Given the description of an element on the screen output the (x, y) to click on. 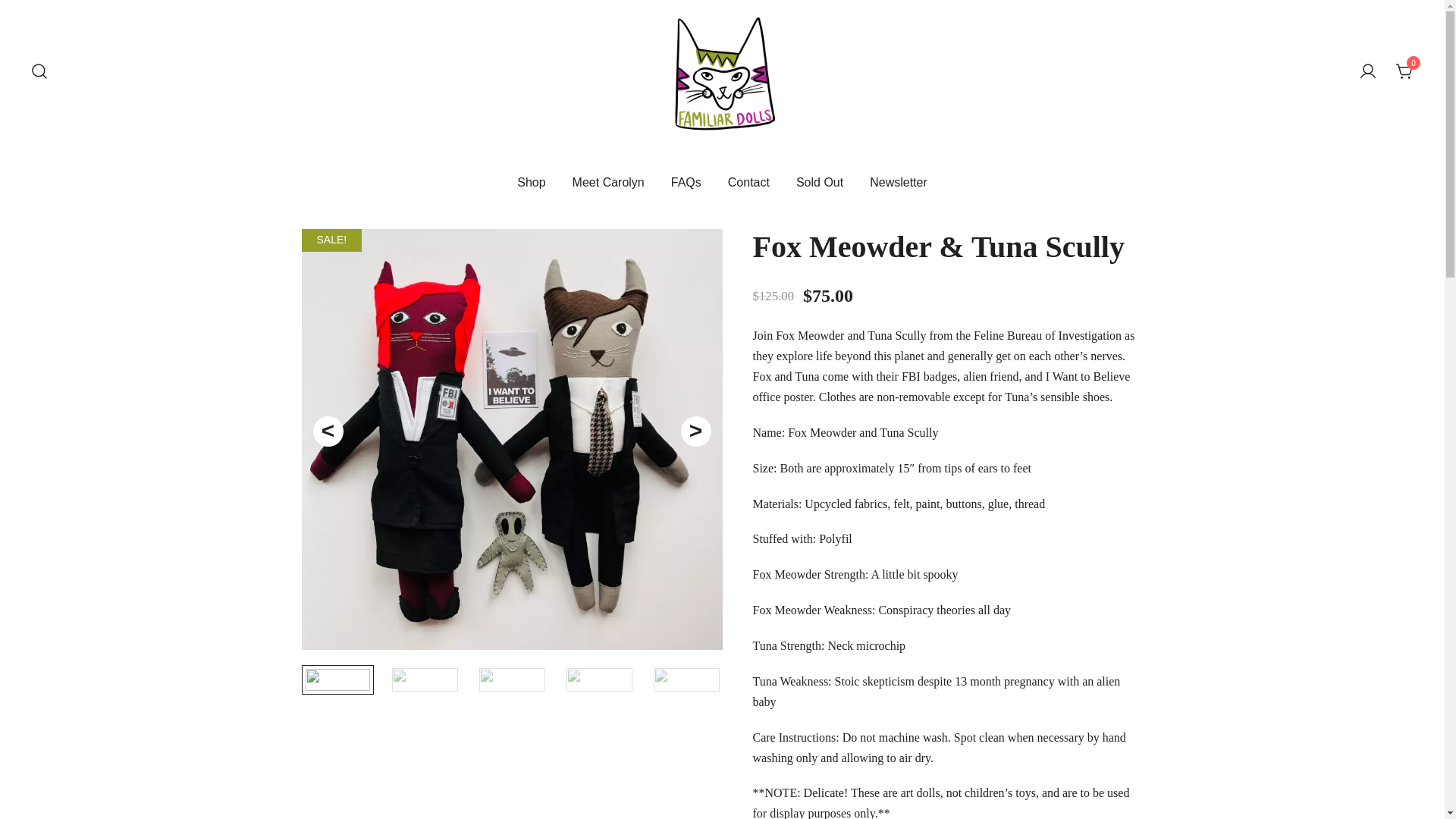
Next (696, 431)
View your shopping cart (1404, 71)
0 (1404, 71)
Sold Out (819, 182)
Familiar Dolls (697, 161)
0 (1404, 72)
Previous (327, 431)
Meet Carolyn (608, 182)
Newsletter (898, 182)
Contact (749, 182)
